Given the description of an element on the screen output the (x, y) to click on. 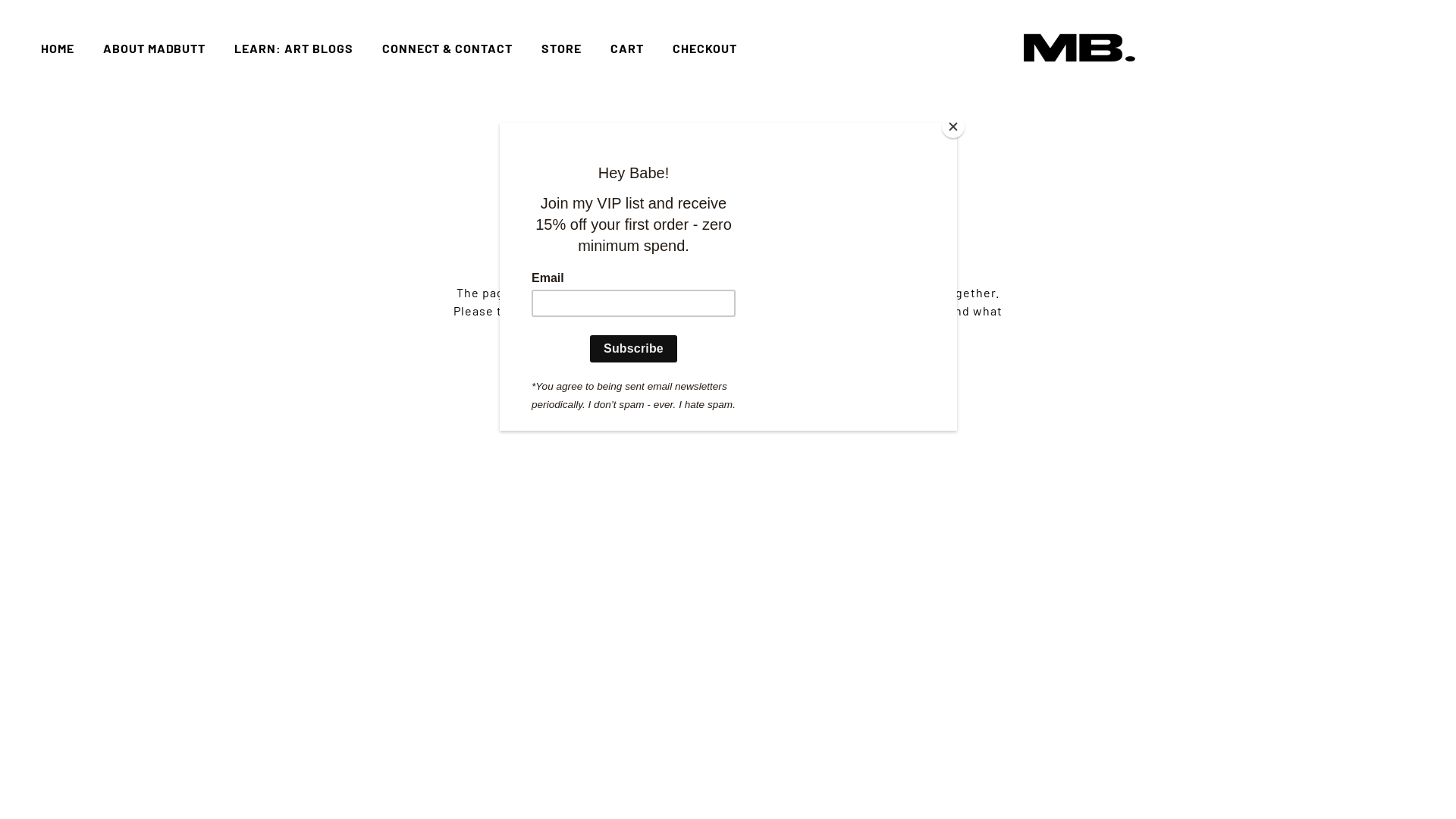
ABOUT MADBUTT Element type: text (154, 48)
BACK TO HOME Element type: text (728, 397)
CHECKOUT Element type: text (704, 48)
CONNECT & CONTACT Element type: text (447, 48)
CART Element type: text (626, 48)
LEARN: ART BLOGS Element type: text (293, 48)
STORE Element type: text (561, 48)
HOME Element type: text (57, 48)
